Given the description of an element on the screen output the (x, y) to click on. 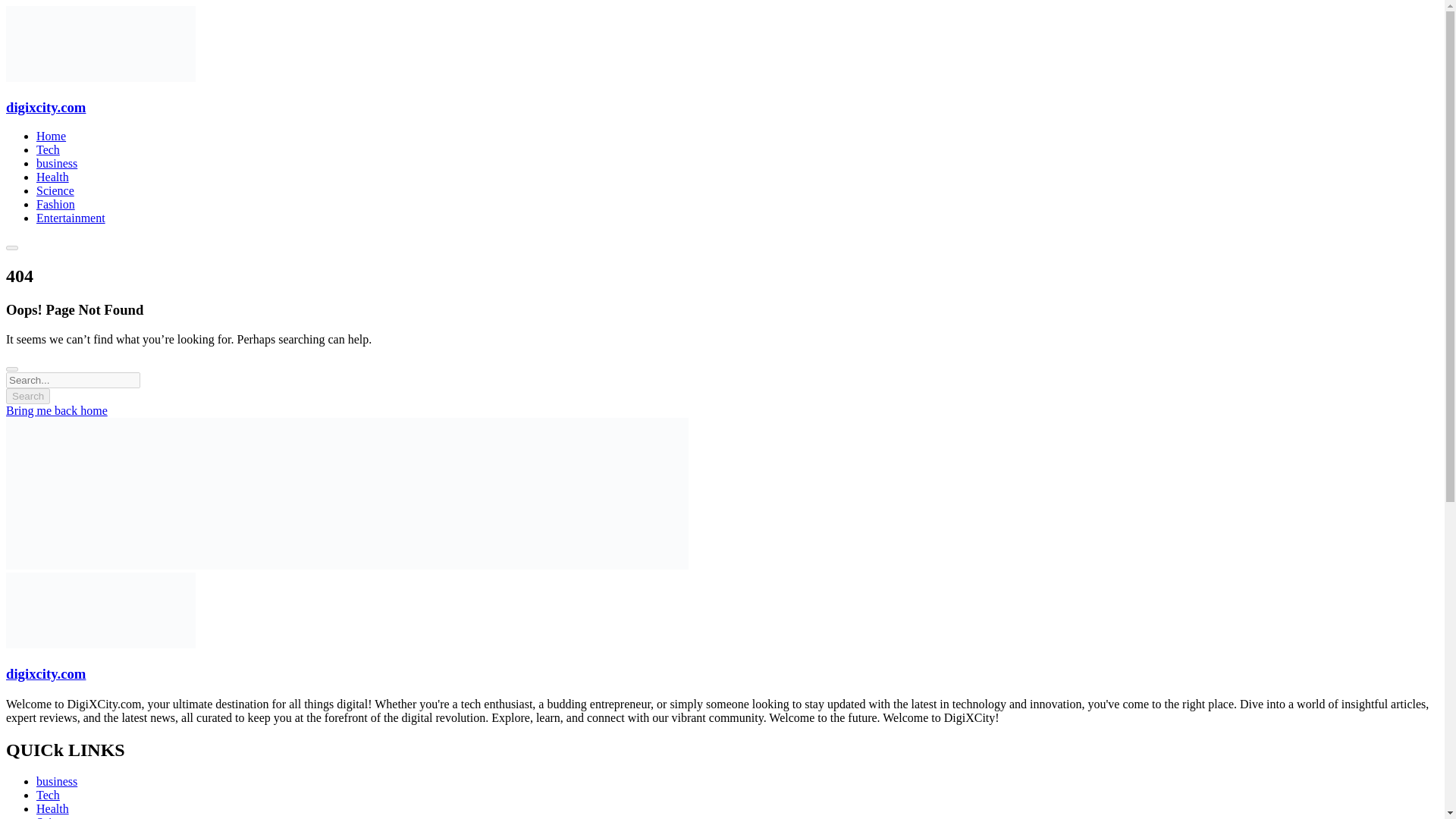
Tech (47, 149)
Bring me back home (56, 410)
Health (52, 808)
business (56, 780)
Tech (47, 794)
Search (27, 396)
business (56, 163)
Search (27, 396)
digixcity.com (45, 107)
digixcity.com (45, 673)
